Given the description of an element on the screen output the (x, y) to click on. 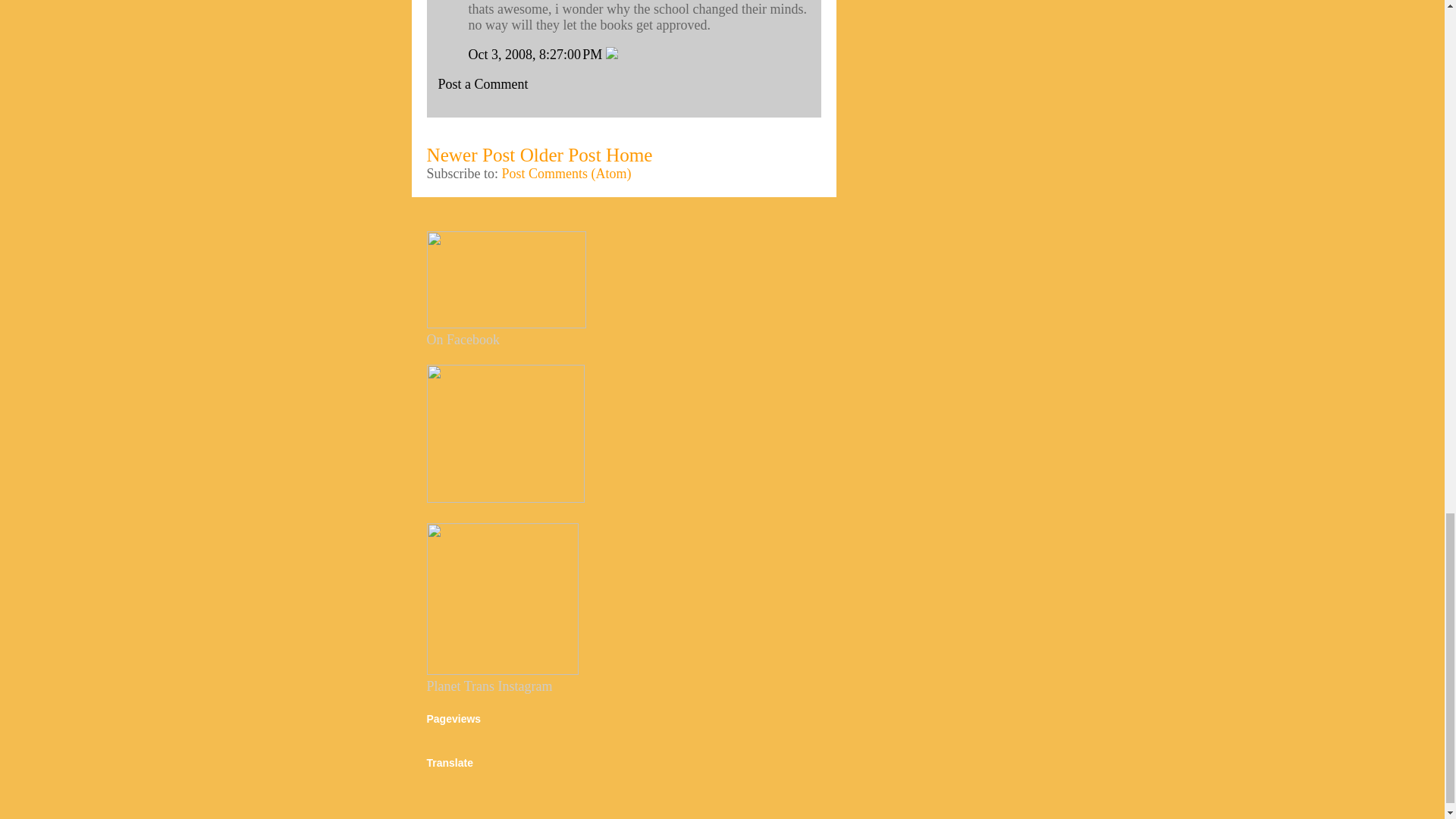
Delete Comment (611, 54)
Home (628, 154)
Post a Comment (483, 83)
Newer Post (470, 154)
Older Post (560, 154)
Newer Post (470, 154)
Older Post (560, 154)
comment permalink (536, 54)
